Given the description of an element on the screen output the (x, y) to click on. 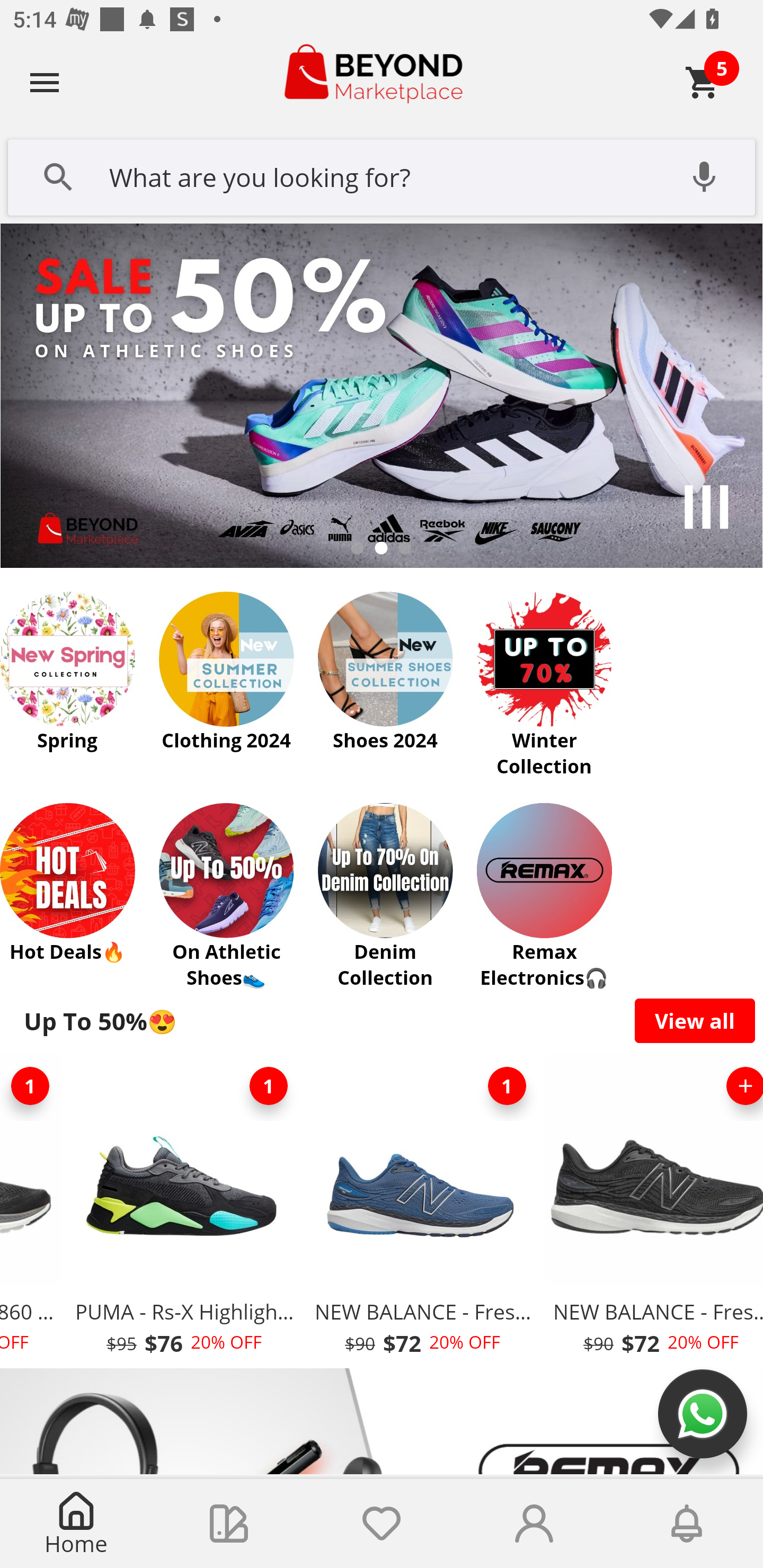
Navigate up (44, 82)
What are you looking for? (381, 175)
View all (694, 1020)
1 (32, 1085)
1 (268, 1085)
1 (506, 1085)
Collections (228, 1523)
Wishlist (381, 1523)
Account (533, 1523)
Notifications (686, 1523)
